Given the description of an element on the screen output the (x, y) to click on. 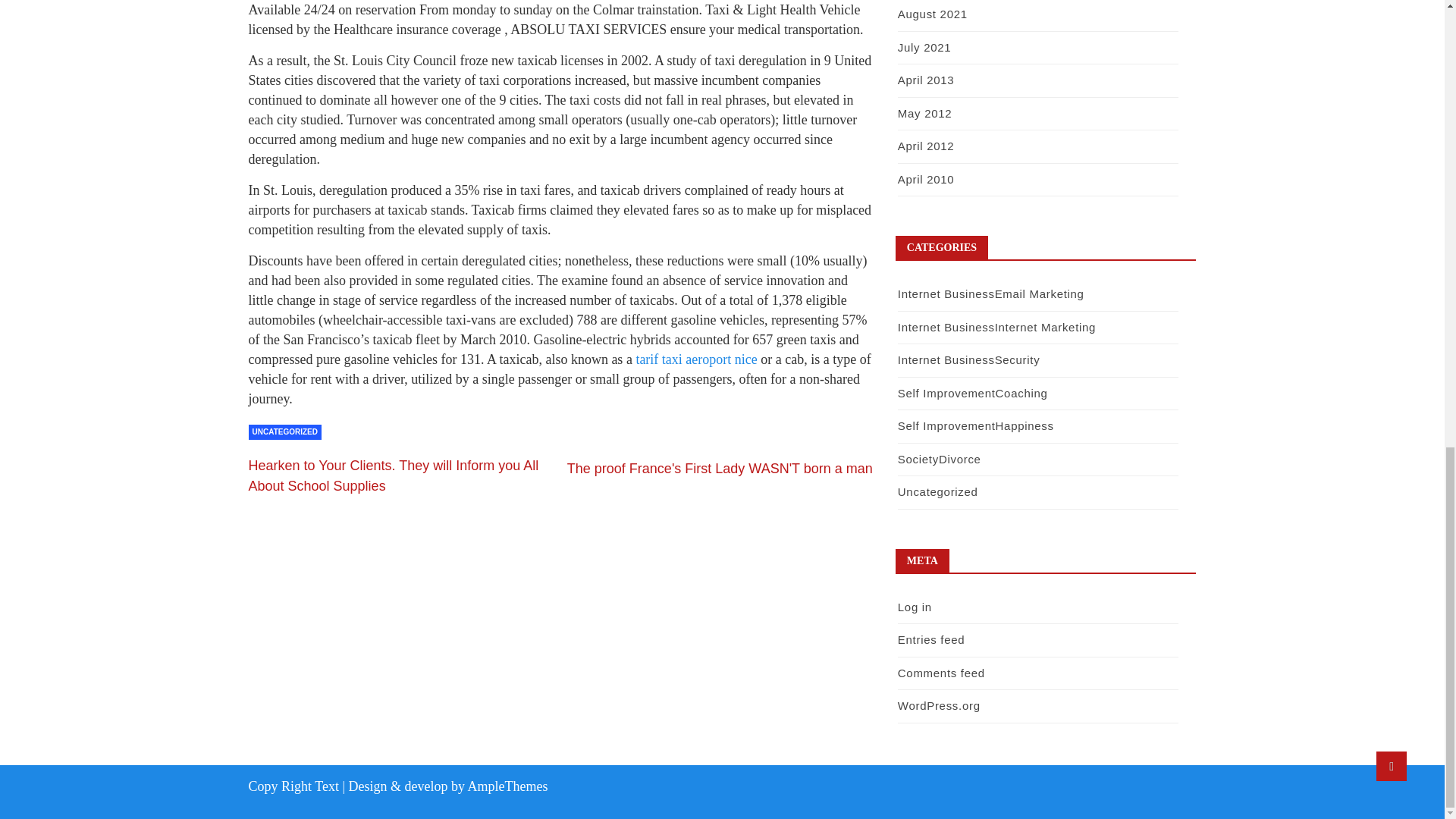
UNCATEGORIZED (284, 432)
tarif taxi aeroport nice (697, 359)
